Given the description of an element on the screen output the (x, y) to click on. 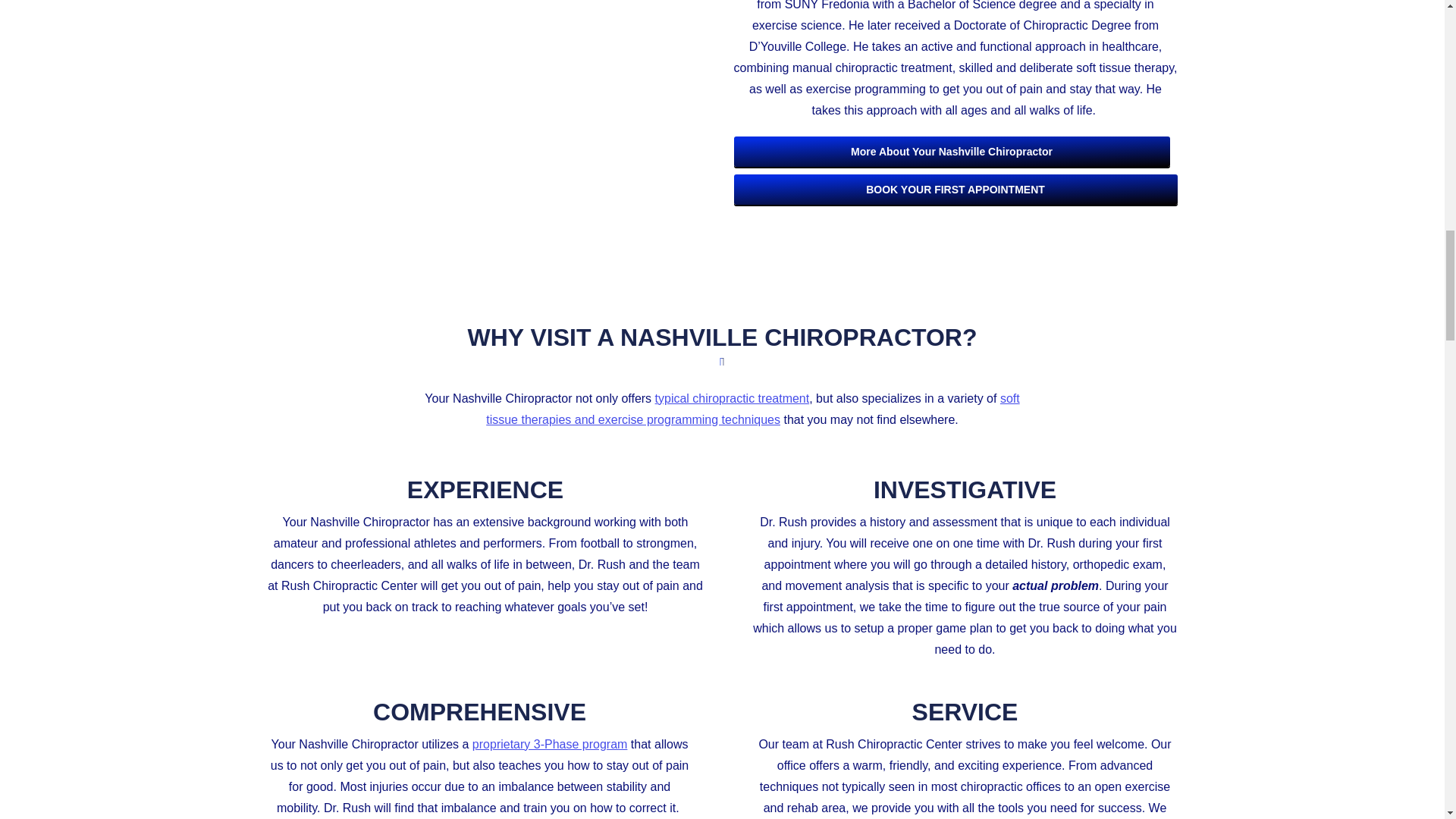
Chiropractic Treatment (488, 104)
About us (951, 151)
Claim Your Complimentary Consultation (955, 189)
